Given the description of an element on the screen output the (x, y) to click on. 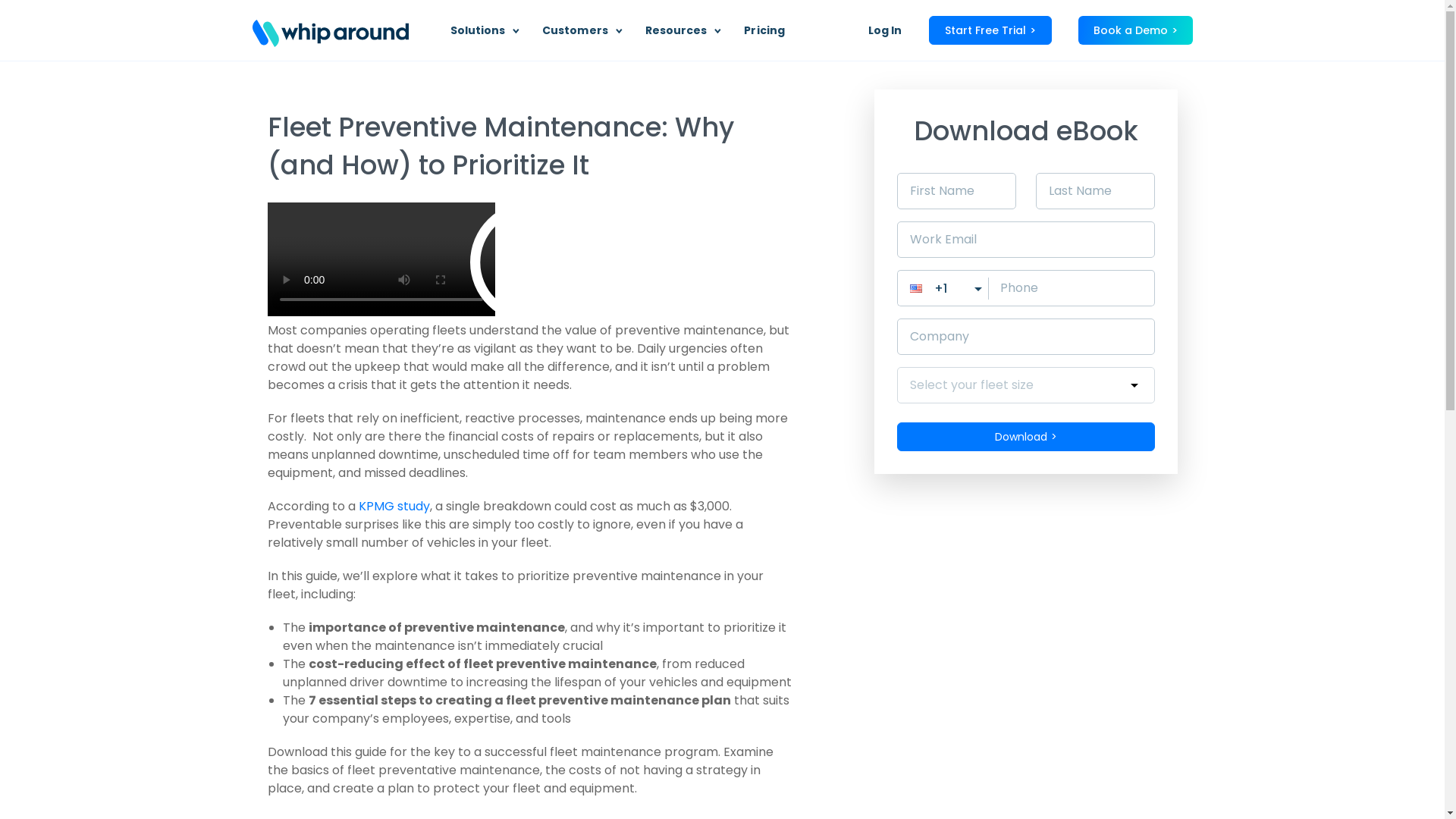
Pricing (764, 30)
KPMG study (393, 506)
Log In (884, 30)
